Given the description of an element on the screen output the (x, y) to click on. 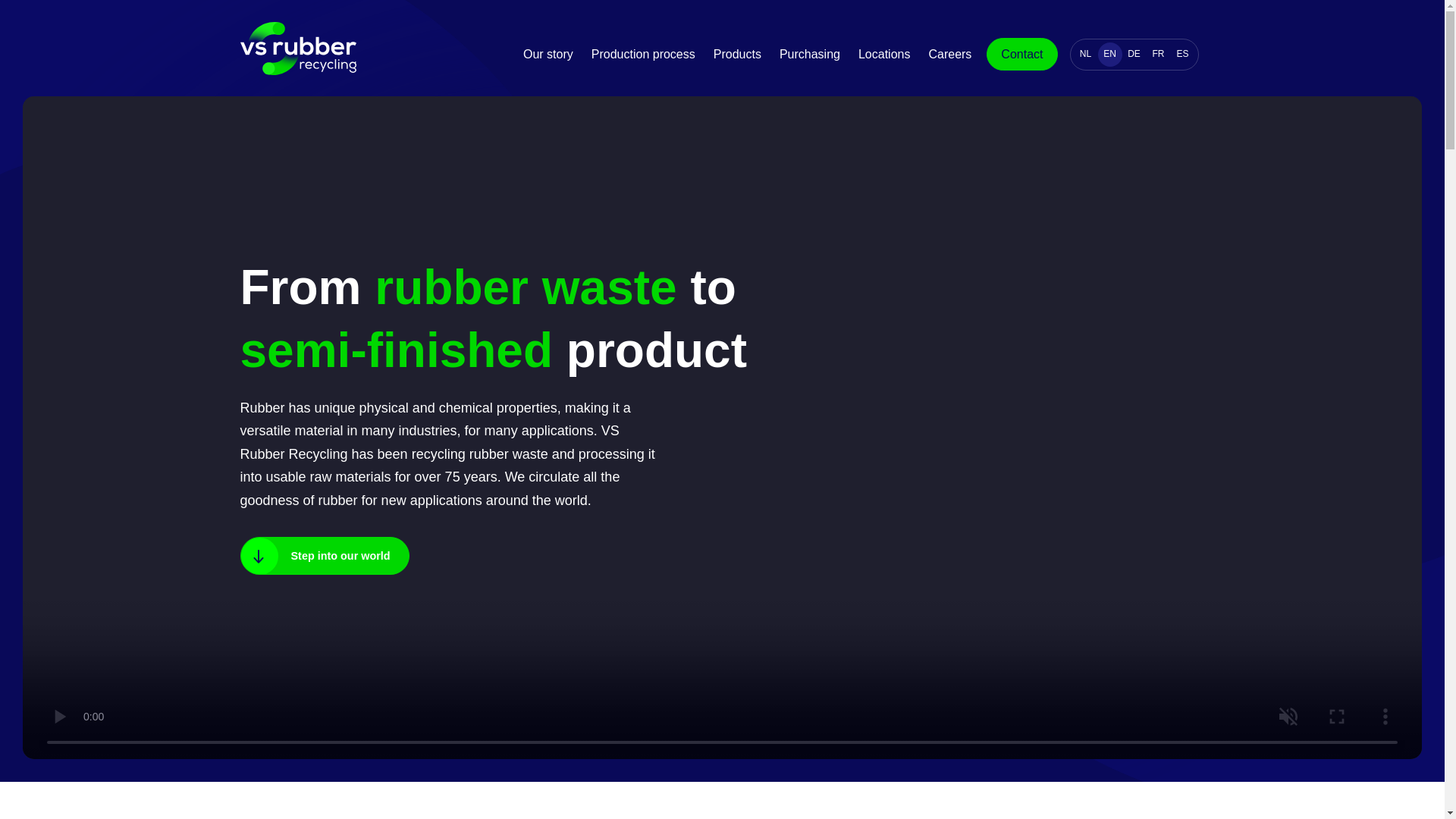
DE (1134, 54)
FR (1158, 54)
NL (1085, 54)
es (1182, 54)
Purchasing (809, 53)
Products (737, 53)
ES (1182, 54)
Our story (547, 53)
Contact (1022, 54)
Purchasing (809, 53)
